Given the description of an element on the screen output the (x, y) to click on. 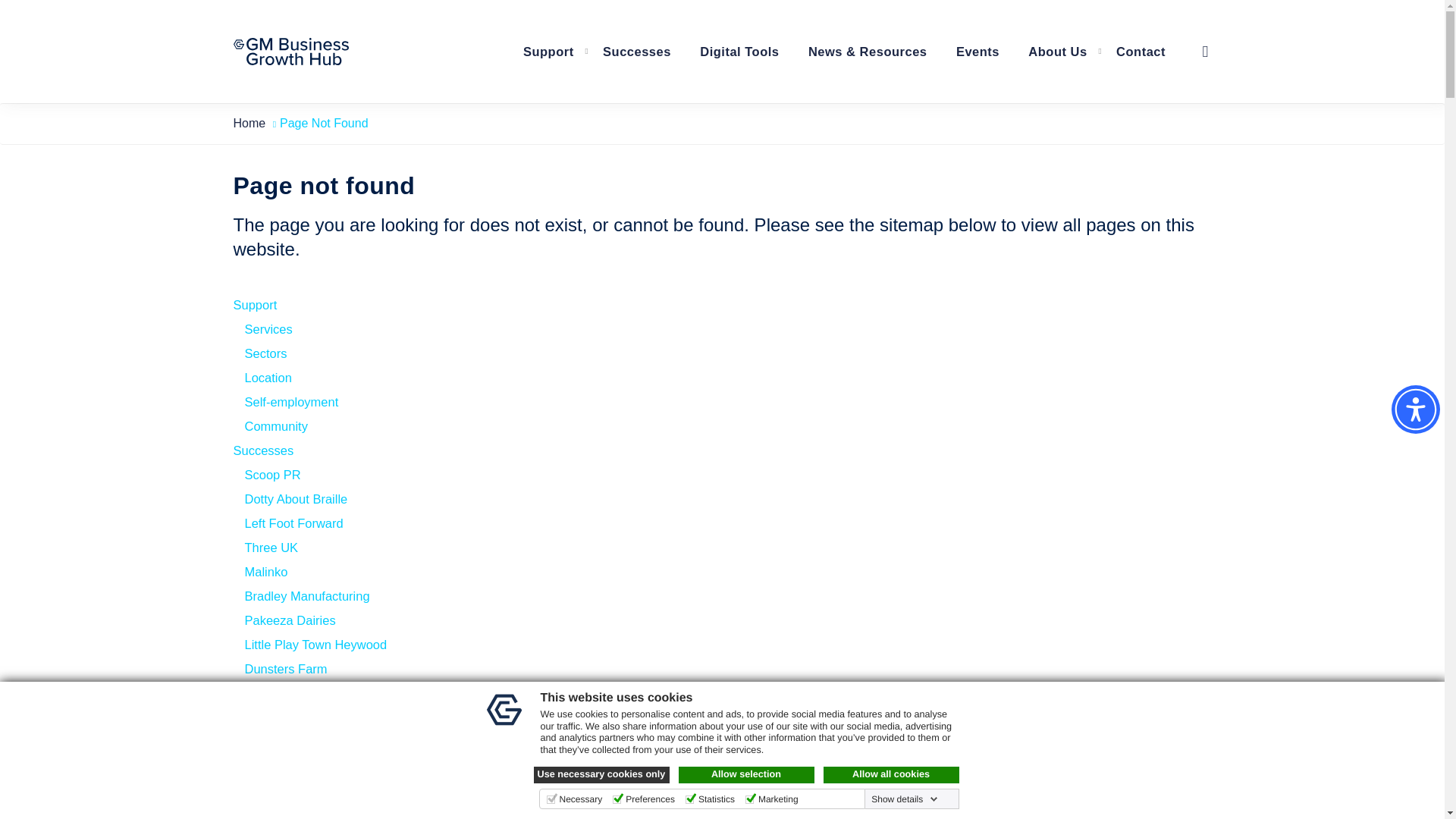
Show details (903, 799)
Allow selection (745, 774)
Allow all cookies (891, 774)
Use necessary cookies only (601, 774)
Accessibility Menu (1415, 409)
